Given the description of an element on the screen output the (x, y) to click on. 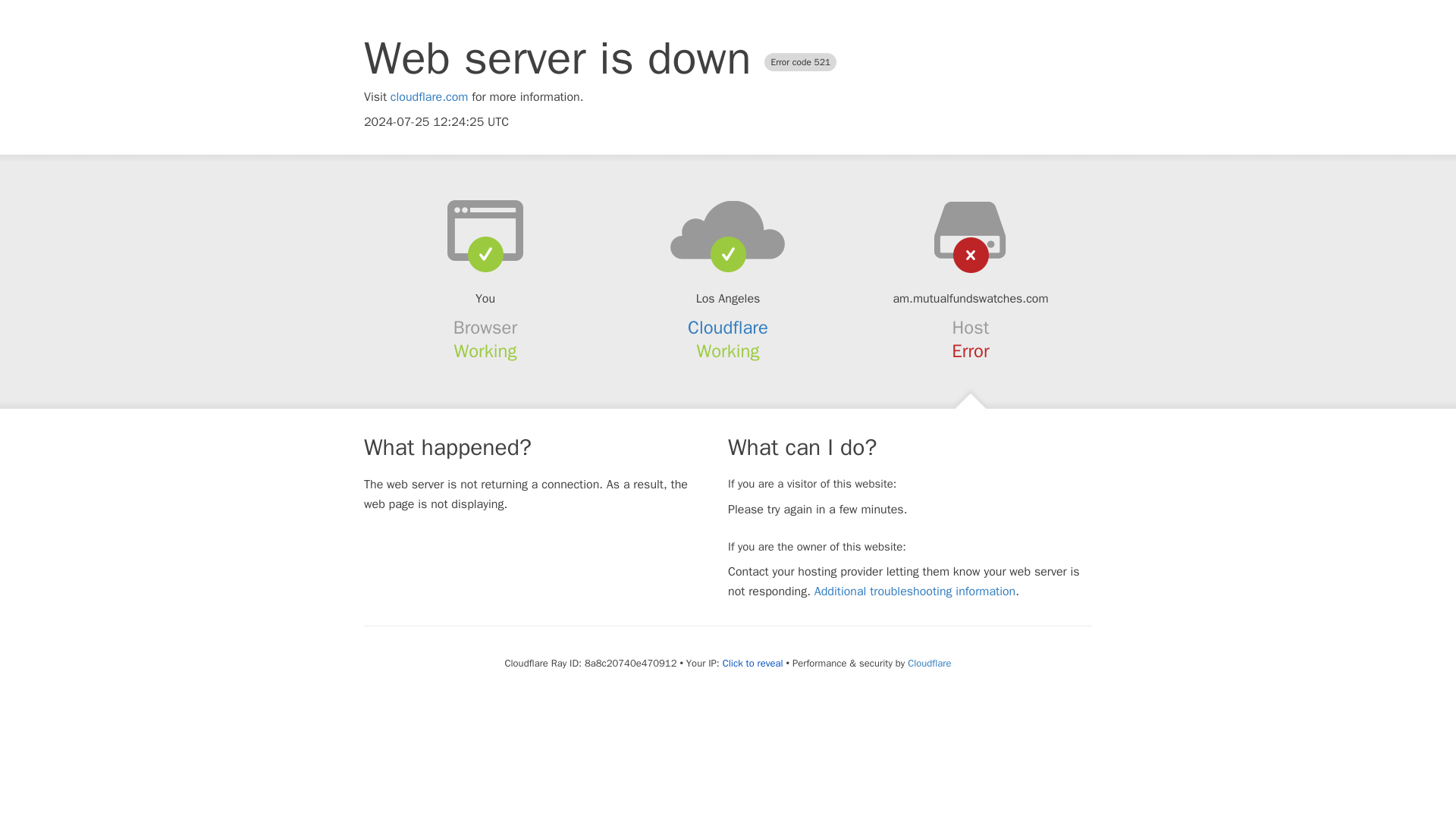
Cloudflare (928, 662)
Cloudflare (727, 327)
Click to reveal (752, 663)
Additional troubleshooting information (913, 590)
cloudflare.com (429, 96)
